Given the description of an element on the screen output the (x, y) to click on. 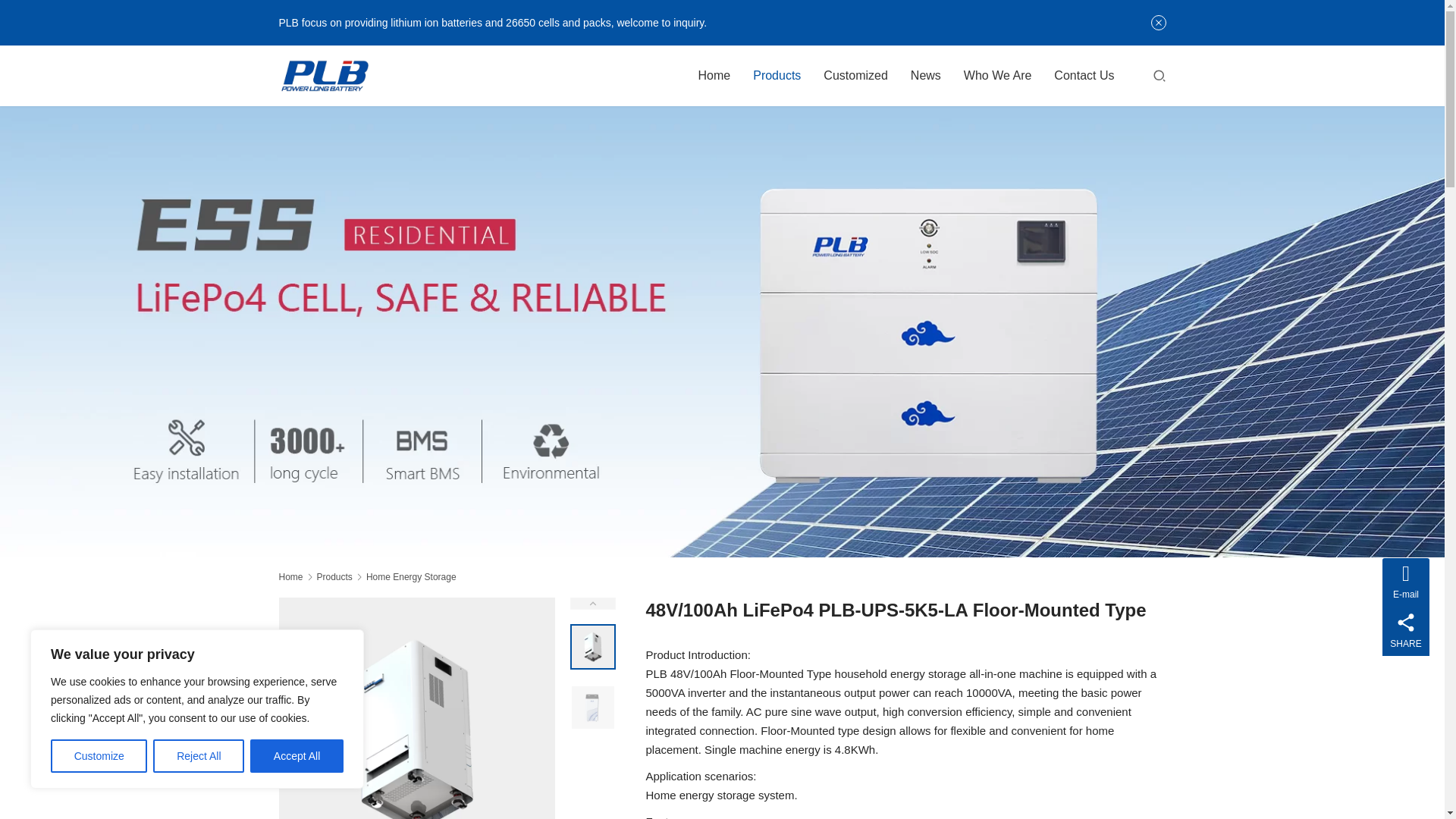
Customize (98, 756)
Customized (855, 75)
Accept All (296, 756)
Reject All (198, 756)
Who We Are (997, 75)
